Given the description of an element on the screen output the (x, y) to click on. 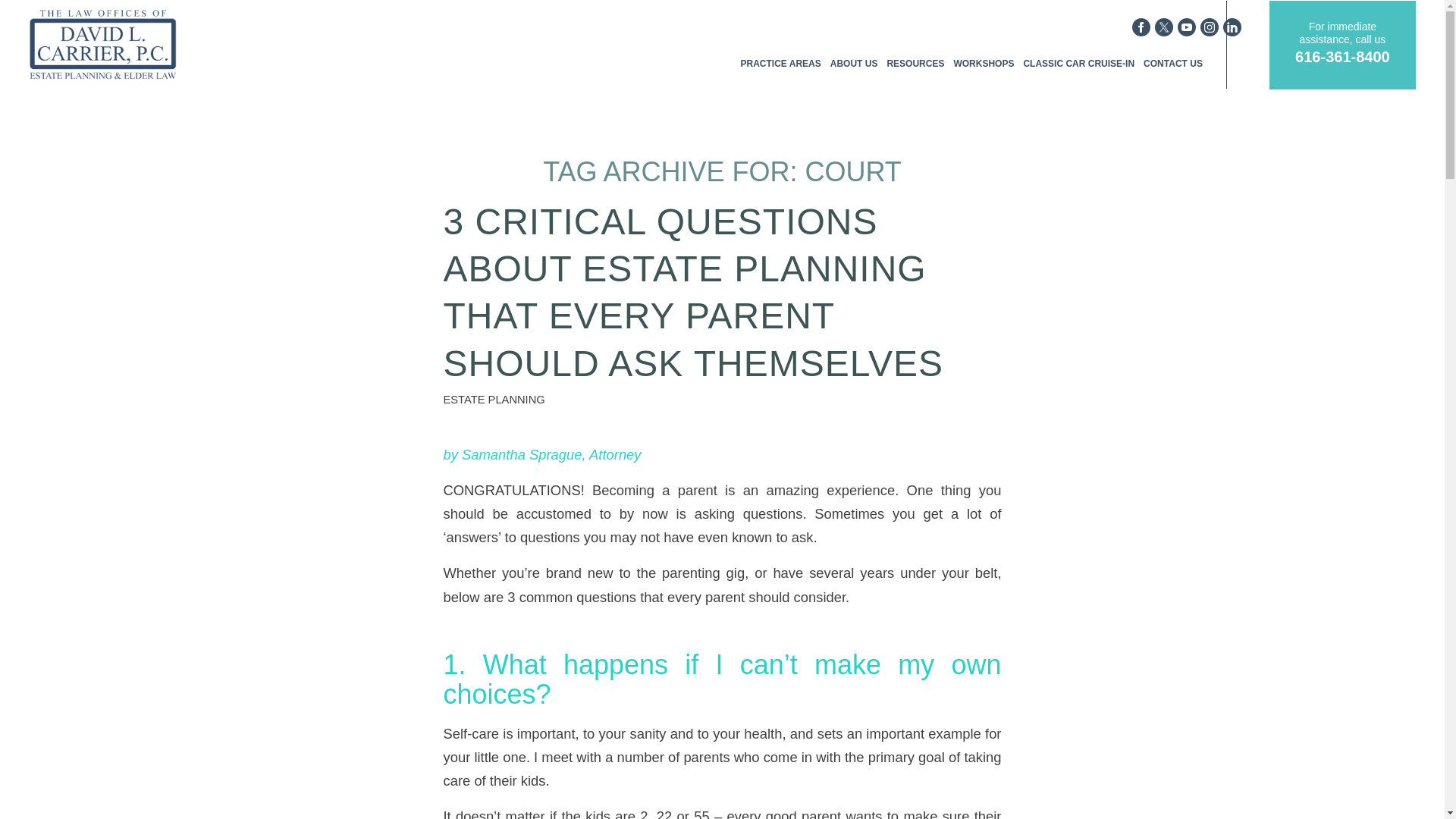
CLASSIC CAR CRUISE-IN (1077, 44)
PRACTICE AREAS (780, 44)
Instagram (1211, 26)
LinkedIn (1234, 26)
ESTATE PLANNING (493, 399)
Youtube (1188, 26)
Facebook (1143, 26)
Twitter (1165, 26)
